Given the description of an element on the screen output the (x, y) to click on. 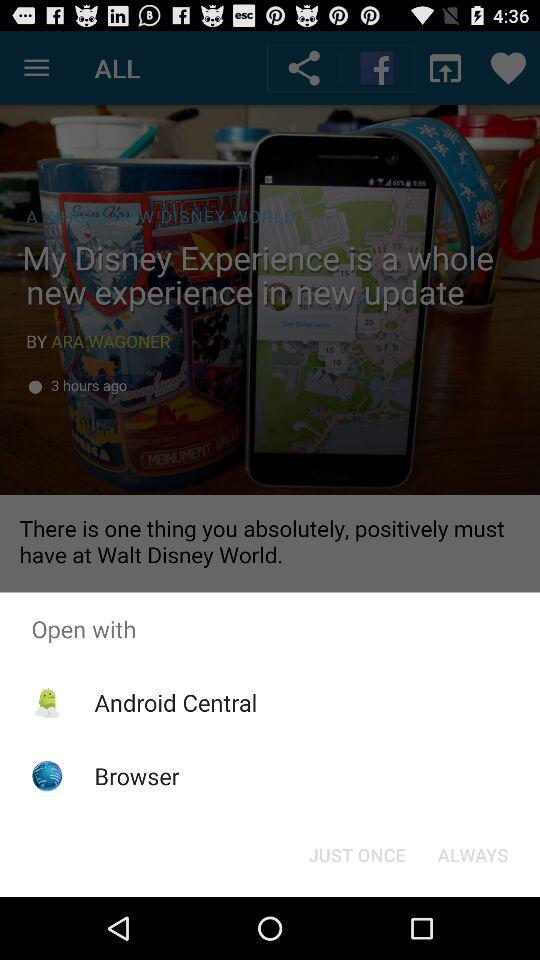
turn on the item to the right of the just once item (472, 854)
